Given the description of an element on the screen output the (x, y) to click on. 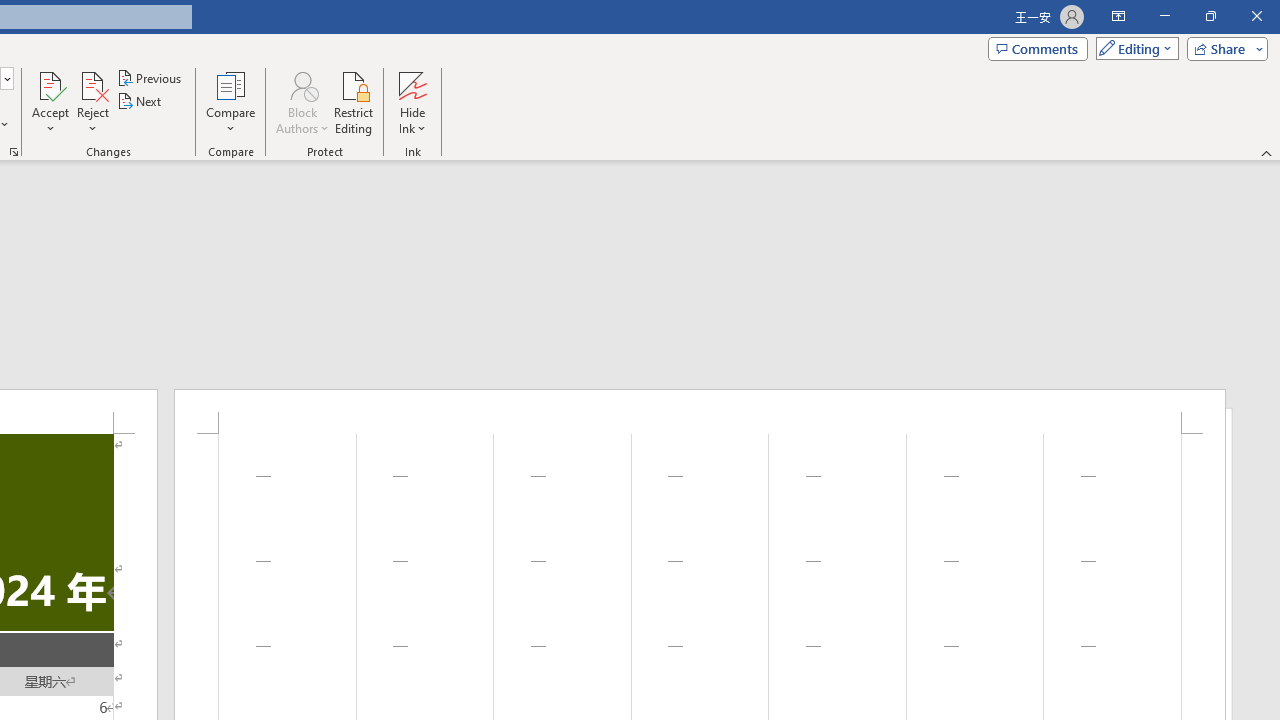
Accept (50, 102)
Previous (150, 78)
Block Authors (302, 84)
Next (140, 101)
Compare (230, 102)
Hide Ink (412, 84)
